Given the description of an element on the screen output the (x, y) to click on. 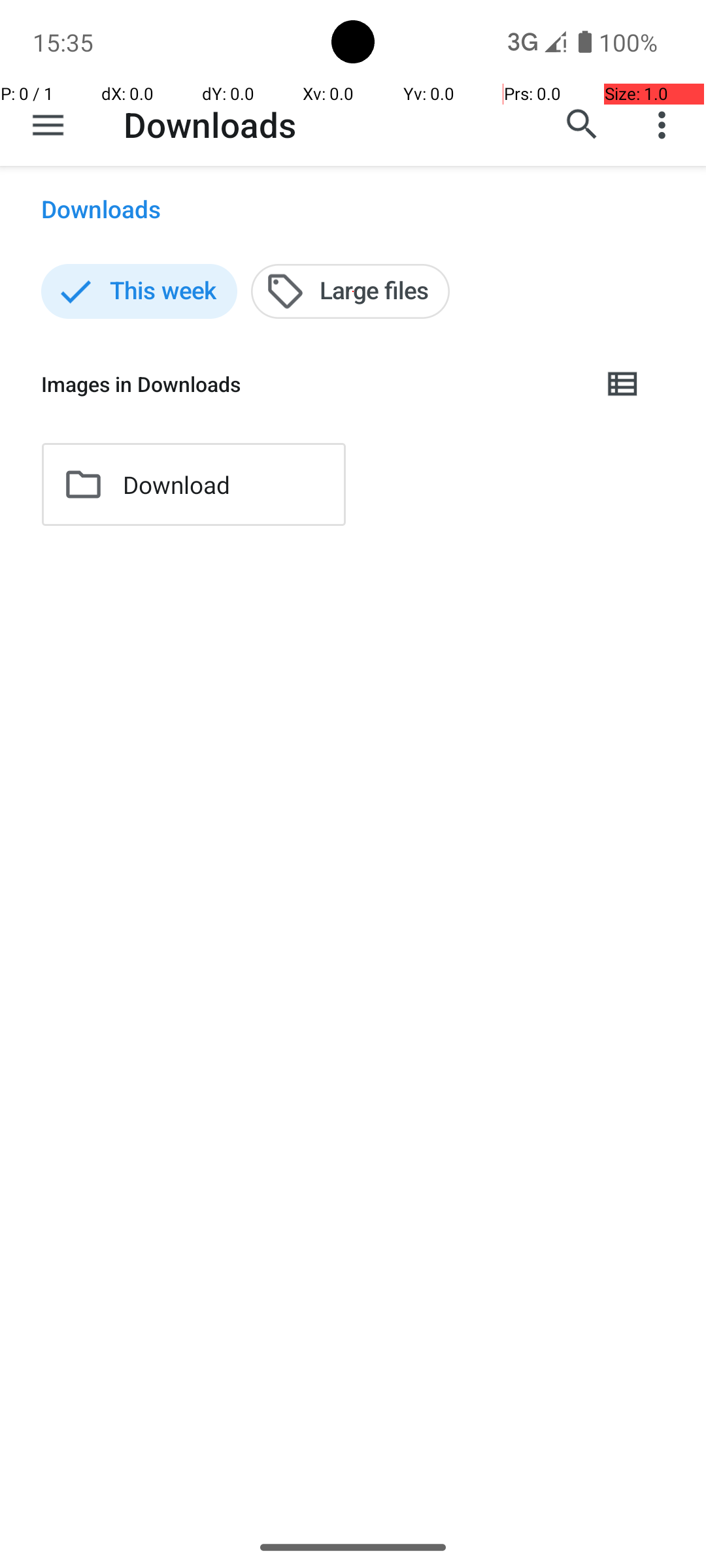
Images in Downloads Element type: android.widget.TextView (311, 383)
Download Element type: android.widget.TextView (176, 484)
